Given the description of an element on the screen output the (x, y) to click on. 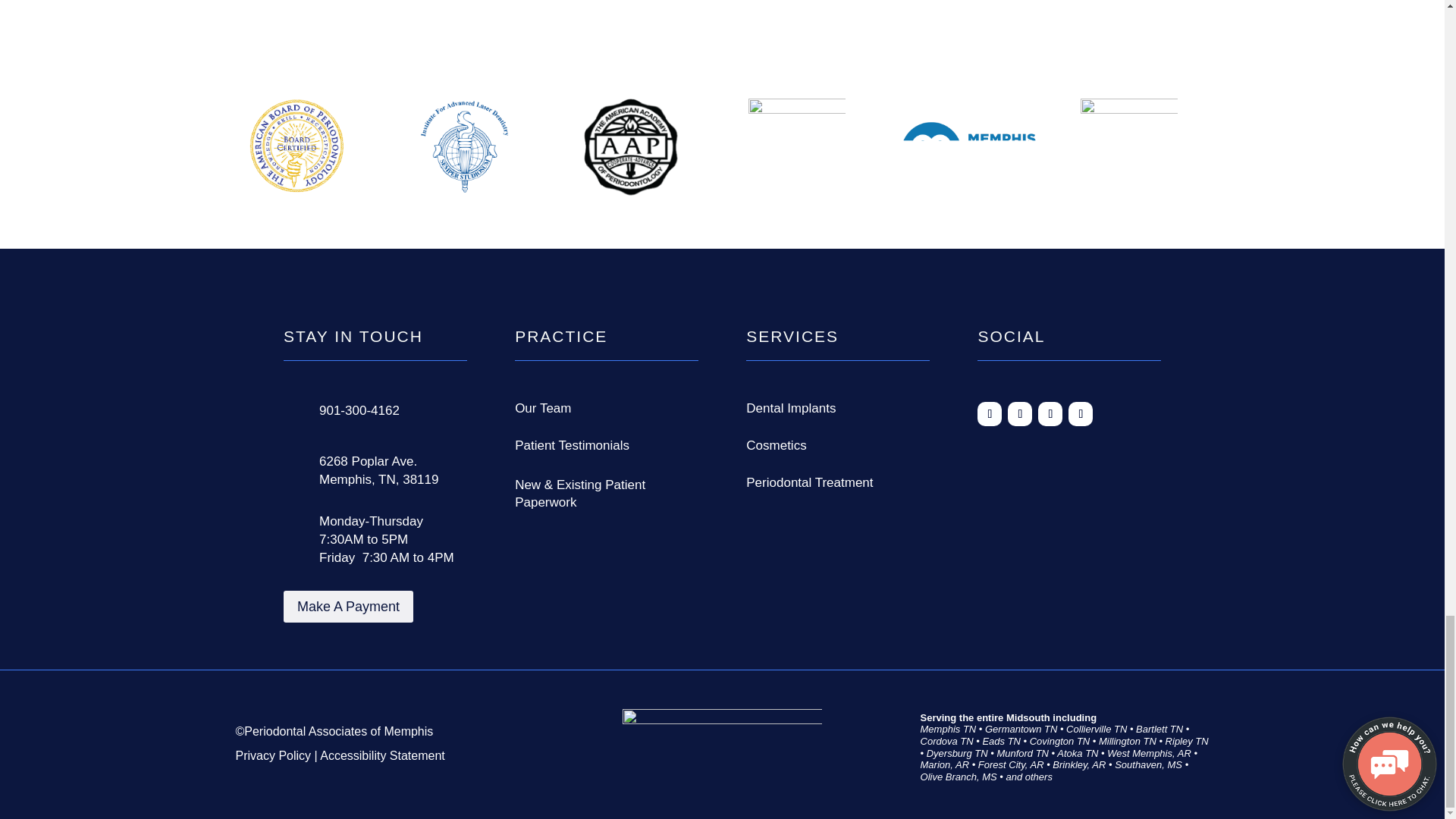
AWARDS footer-36 (463, 146)
AWARDS footer-38 (796, 149)
AWARDS footer-35 (297, 146)
Follow on Facebook (988, 413)
Follow on Instagram (1050, 413)
Follow on Google (1019, 413)
AWARDS footer-37 (630, 146)
Follow on Youtube (1080, 413)
AWARDS footer-40 (1128, 150)
AWARDS footer-39 (967, 153)
